Given the description of an element on the screen output the (x, y) to click on. 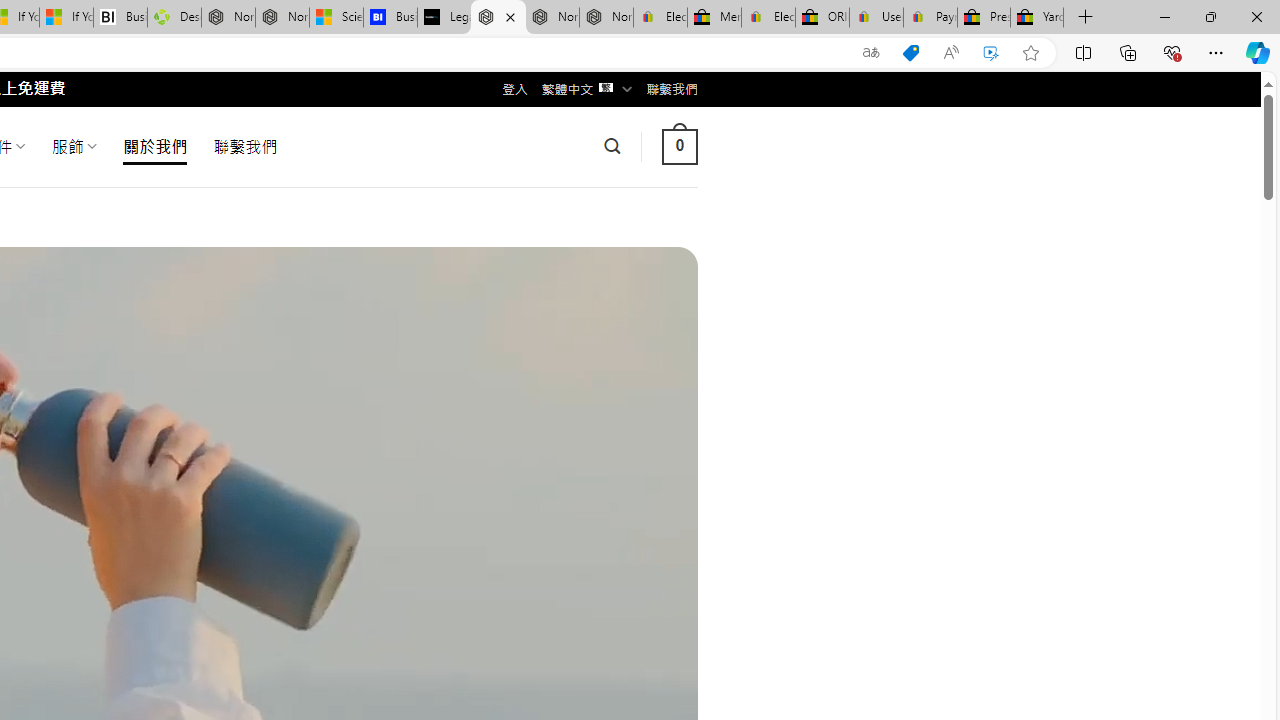
Yard, Garden & Outdoor Living (1037, 17)
Descarga Driver Updater (174, 17)
  0   (679, 146)
Press Room - eBay Inc. (983, 17)
